Given the description of an element on the screen output the (x, y) to click on. 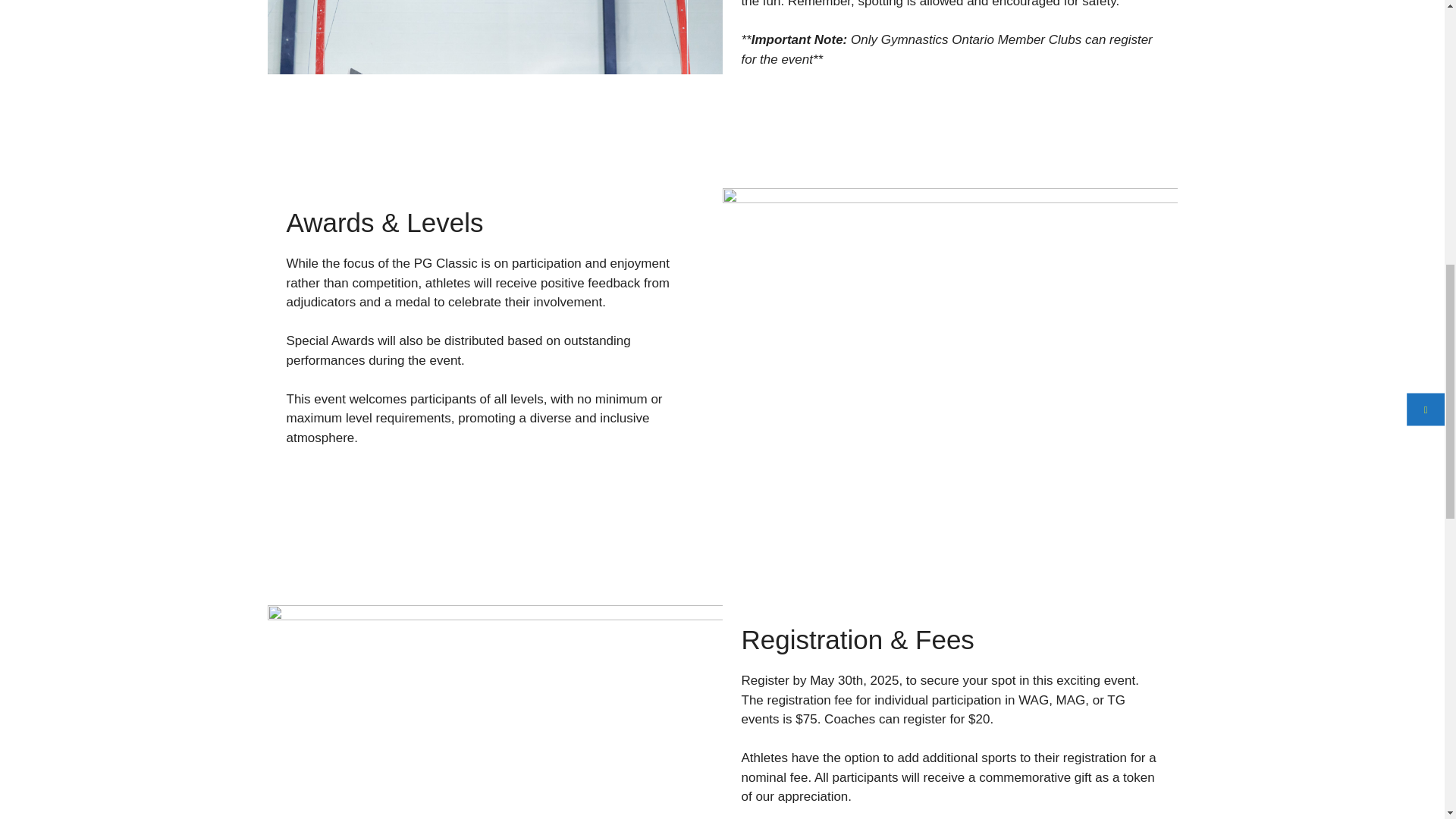
Scroll back to top (1406, 720)
1E0A7854 (494, 37)
1E0A9515 (494, 712)
